Given the description of an element on the screen output the (x, y) to click on. 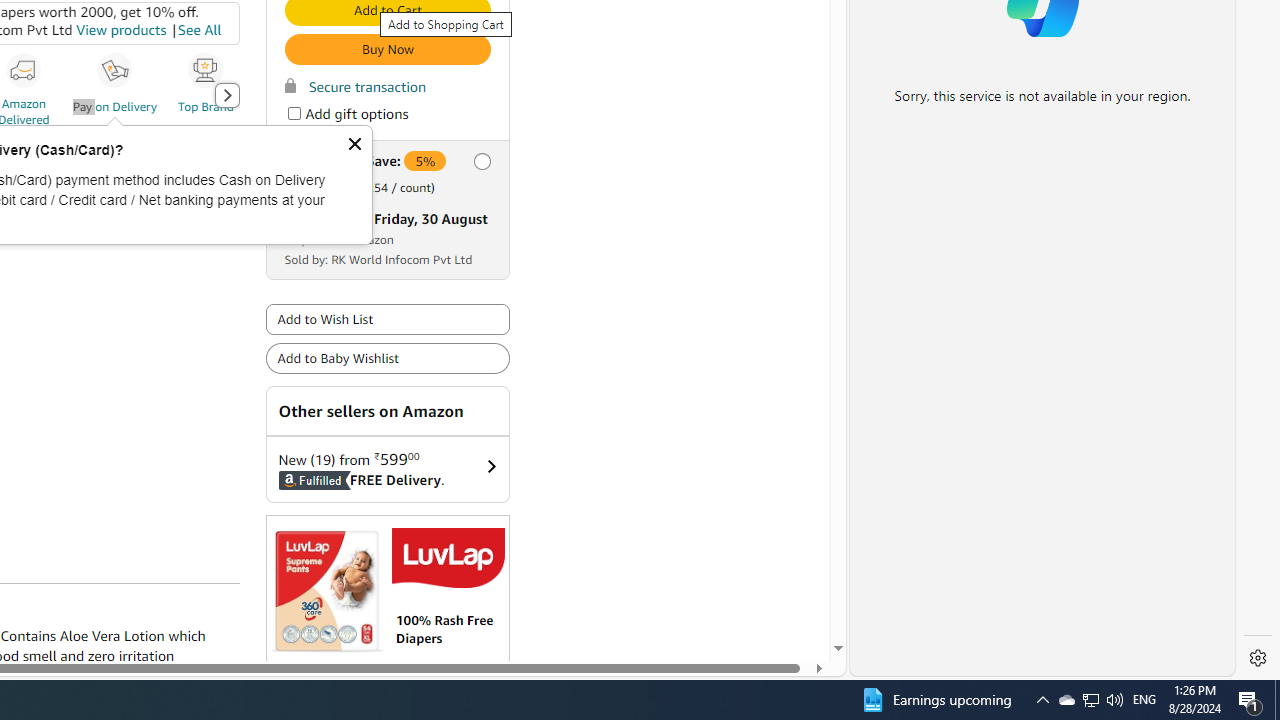
Settings (1258, 658)
